Given the description of an element on the screen output the (x, y) to click on. 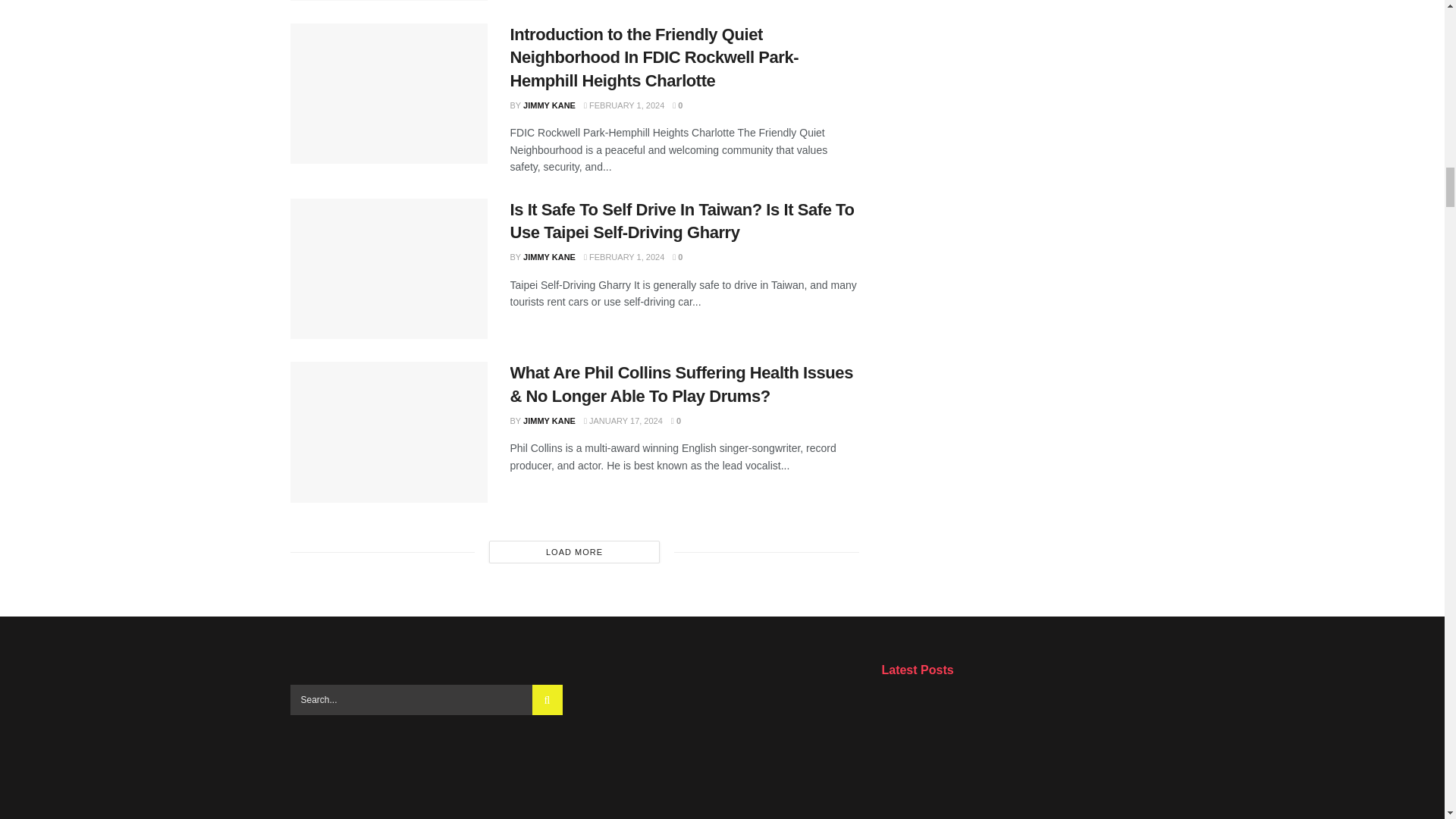
Latest Posts (1017, 740)
